Given the description of an element on the screen output the (x, y) to click on. 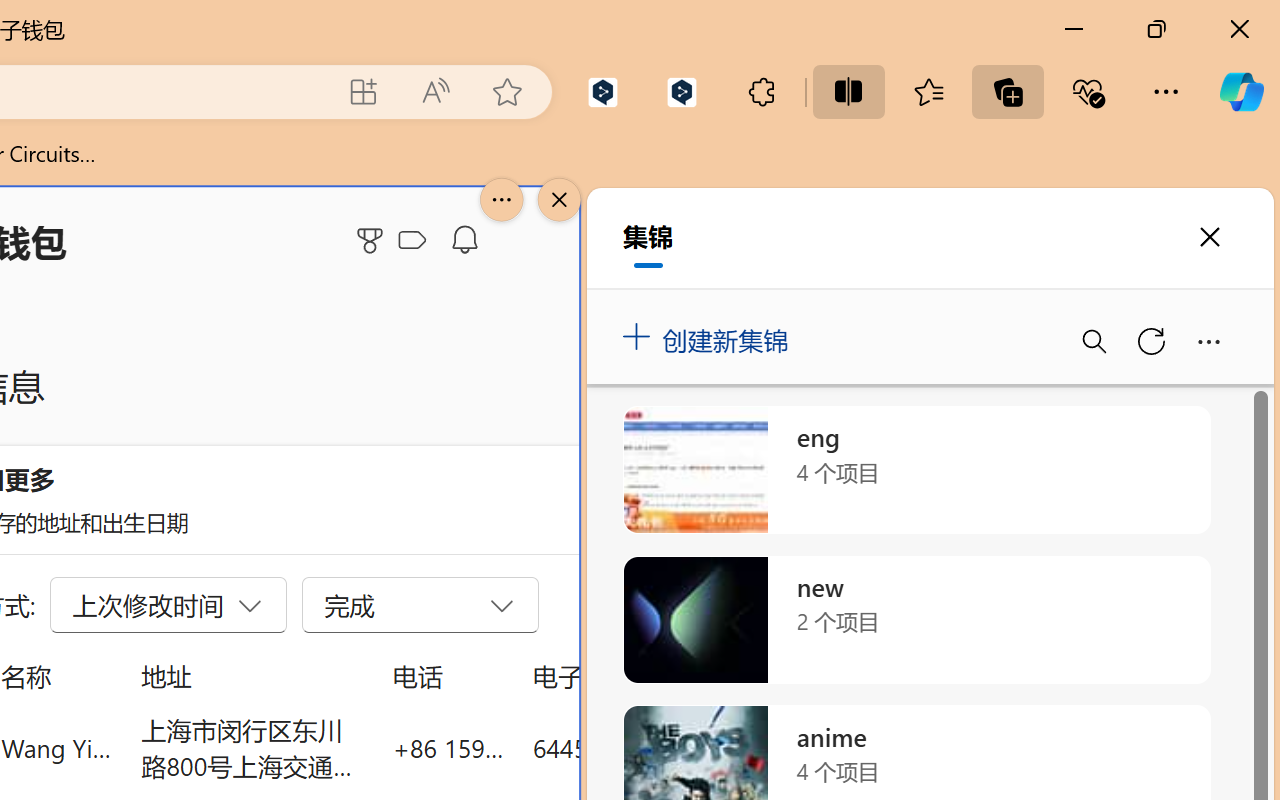
Class: ___1lmltc5 f1agt3bx f12qytpq (411, 241)
644553698@qq.com (644, 747)
Microsoft Cashback (415, 241)
